Given the description of an element on the screen output the (x, y) to click on. 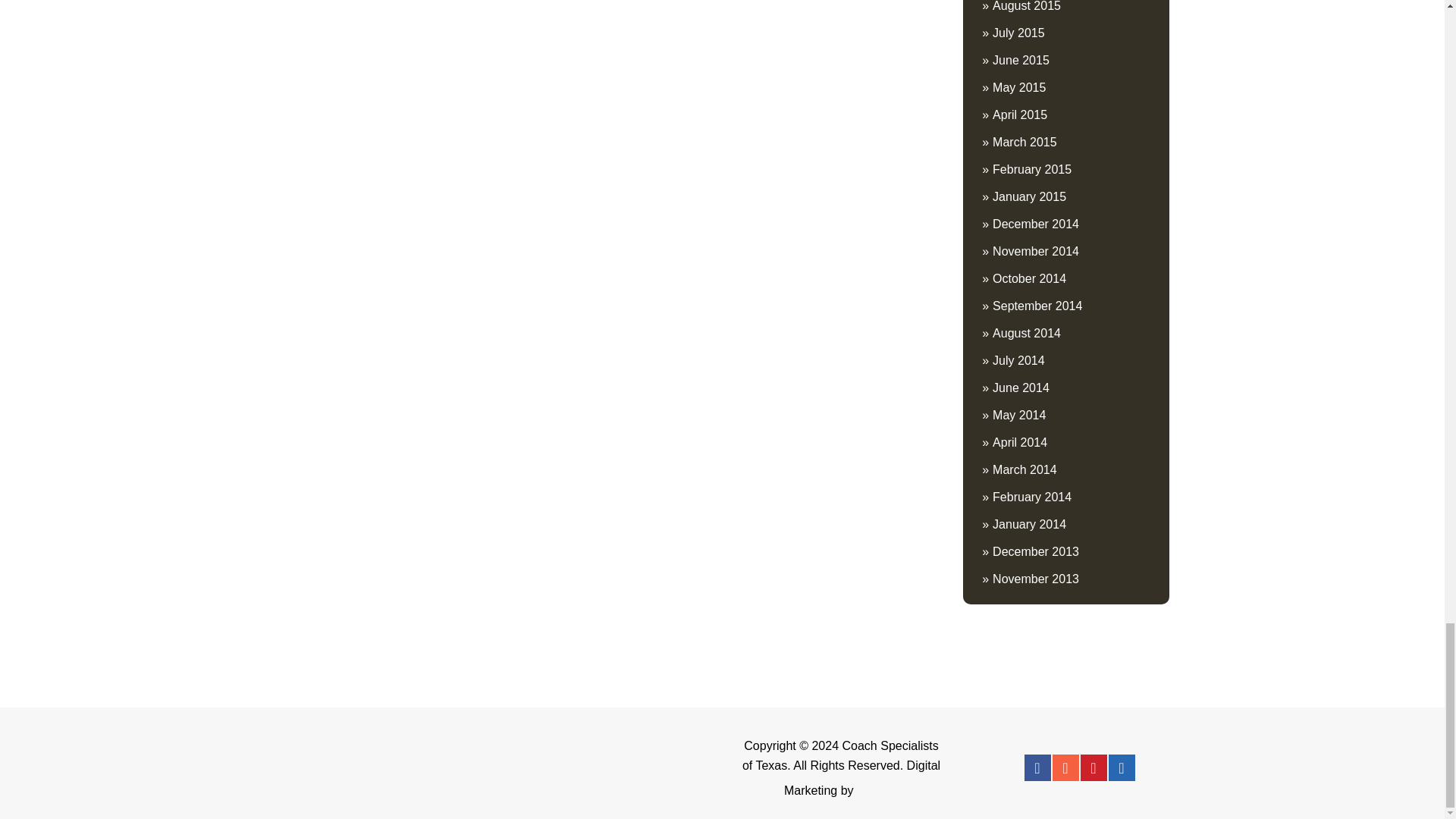
Pinterest (1093, 767)
Instagram (1065, 767)
LinkedIn (1121, 767)
Facebook (1036, 767)
Sprinter Center (602, 768)
Coach-2022-logo (364, 767)
